Given the description of an element on the screen output the (x, y) to click on. 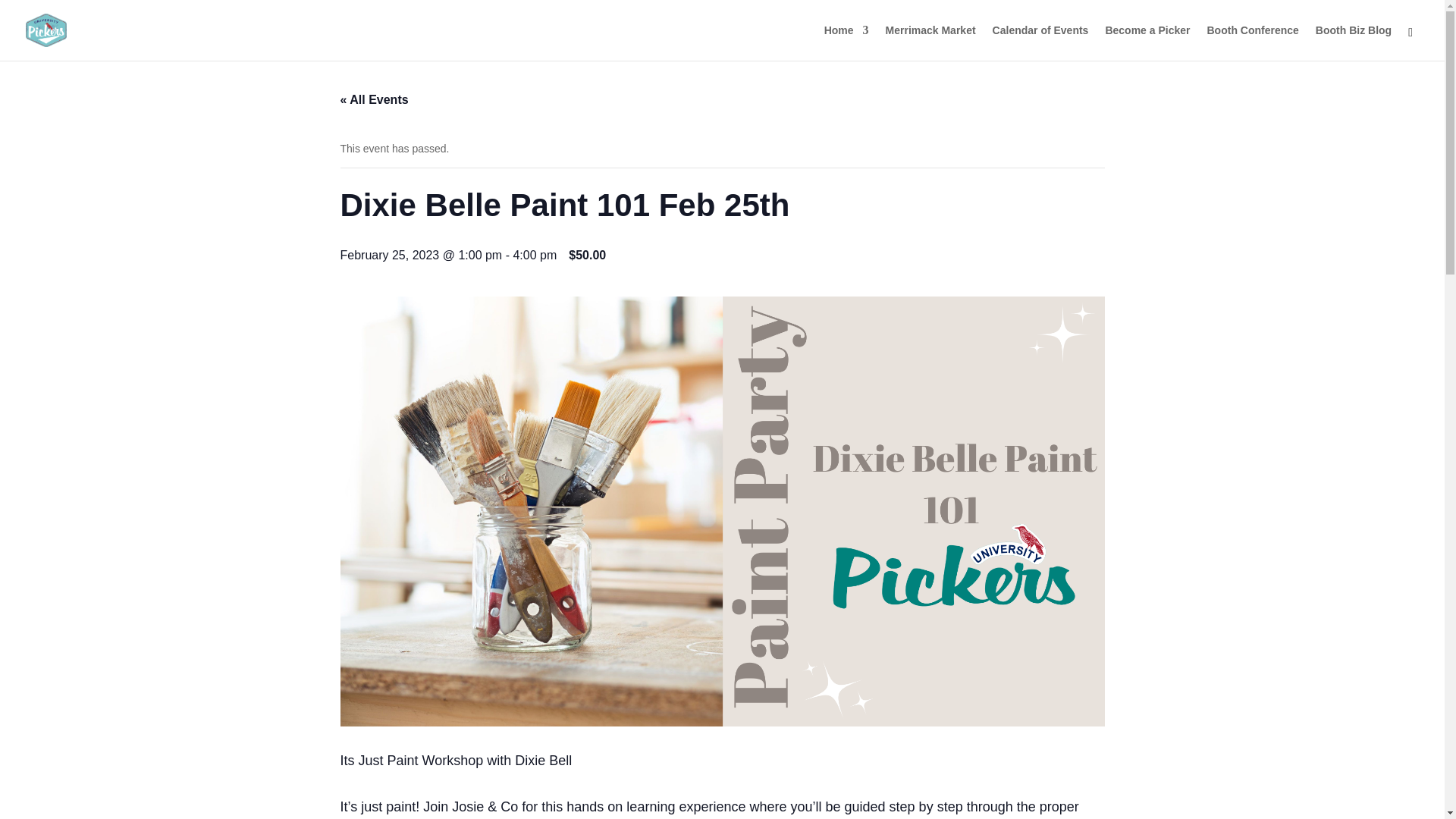
Booth Biz Blog (1353, 42)
Booth Conference (1252, 42)
Calendar of Events (1040, 42)
Become a Picker (1147, 42)
Merrimack Market (930, 42)
Home (846, 42)
